Given the description of an element on the screen output the (x, y) to click on. 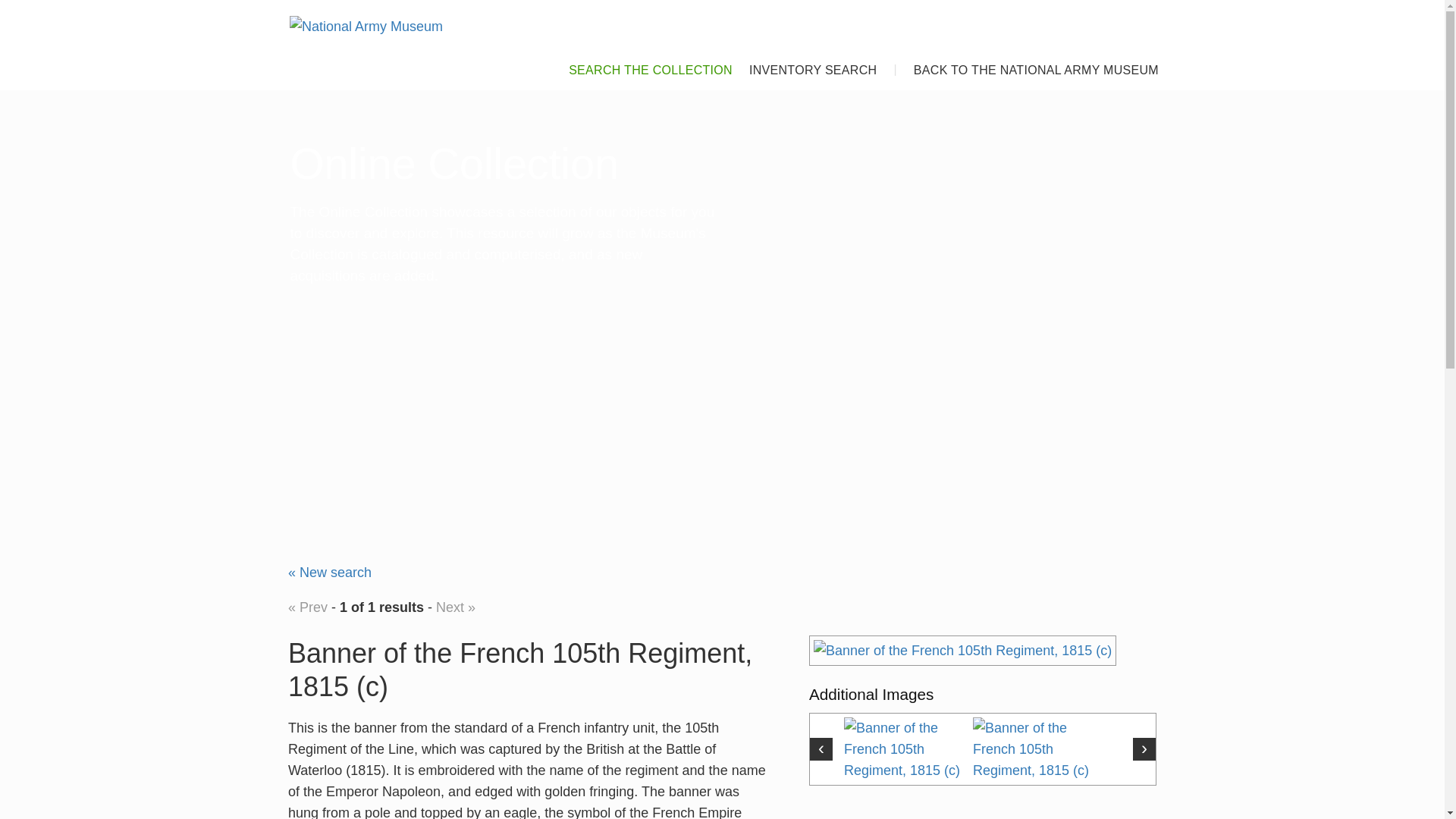
BACK TO THE NATIONAL ARMY MUSEUM (1027, 65)
SEARCH THE COLLECTION (641, 65)
INVENTORY SEARCH (804, 65)
National Army Museum (365, 25)
